Given the description of an element on the screen output the (x, y) to click on. 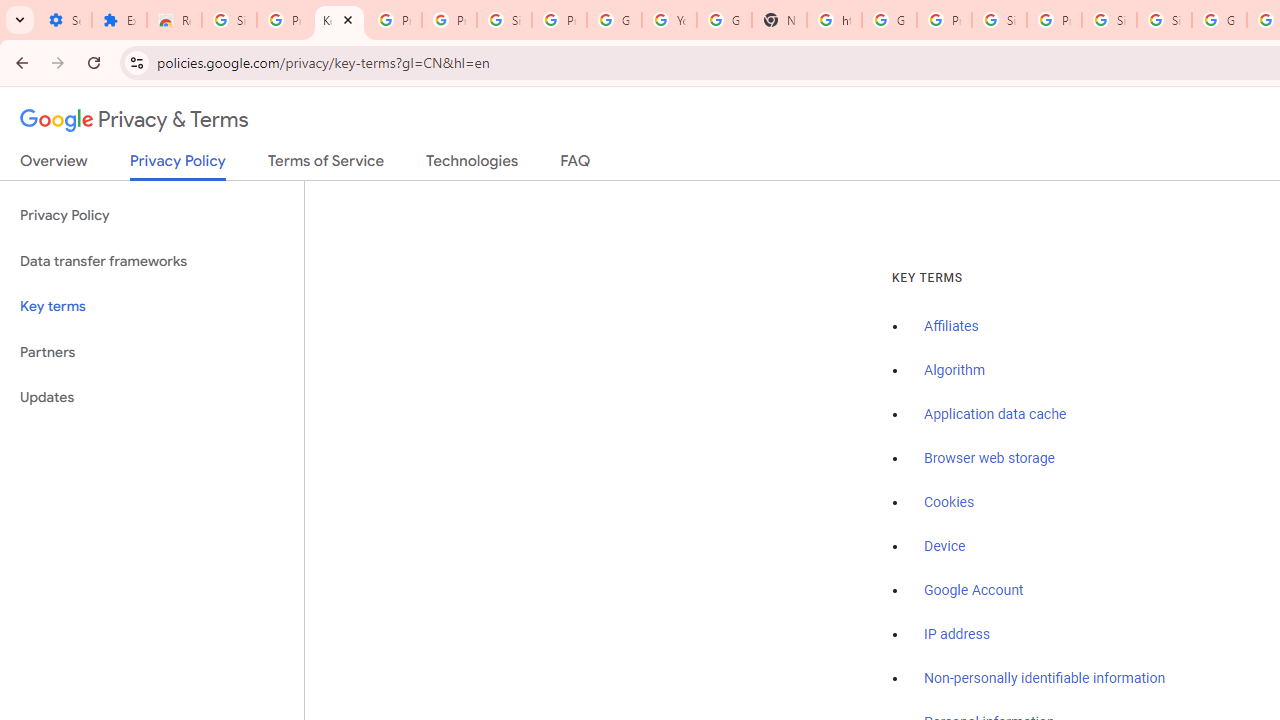
https://scholar.google.com/ (833, 20)
Sign in - Google Accounts (1108, 20)
Sign in - Google Accounts (504, 20)
Browser web storage (989, 459)
Device (945, 546)
